Given the description of an element on the screen output the (x, y) to click on. 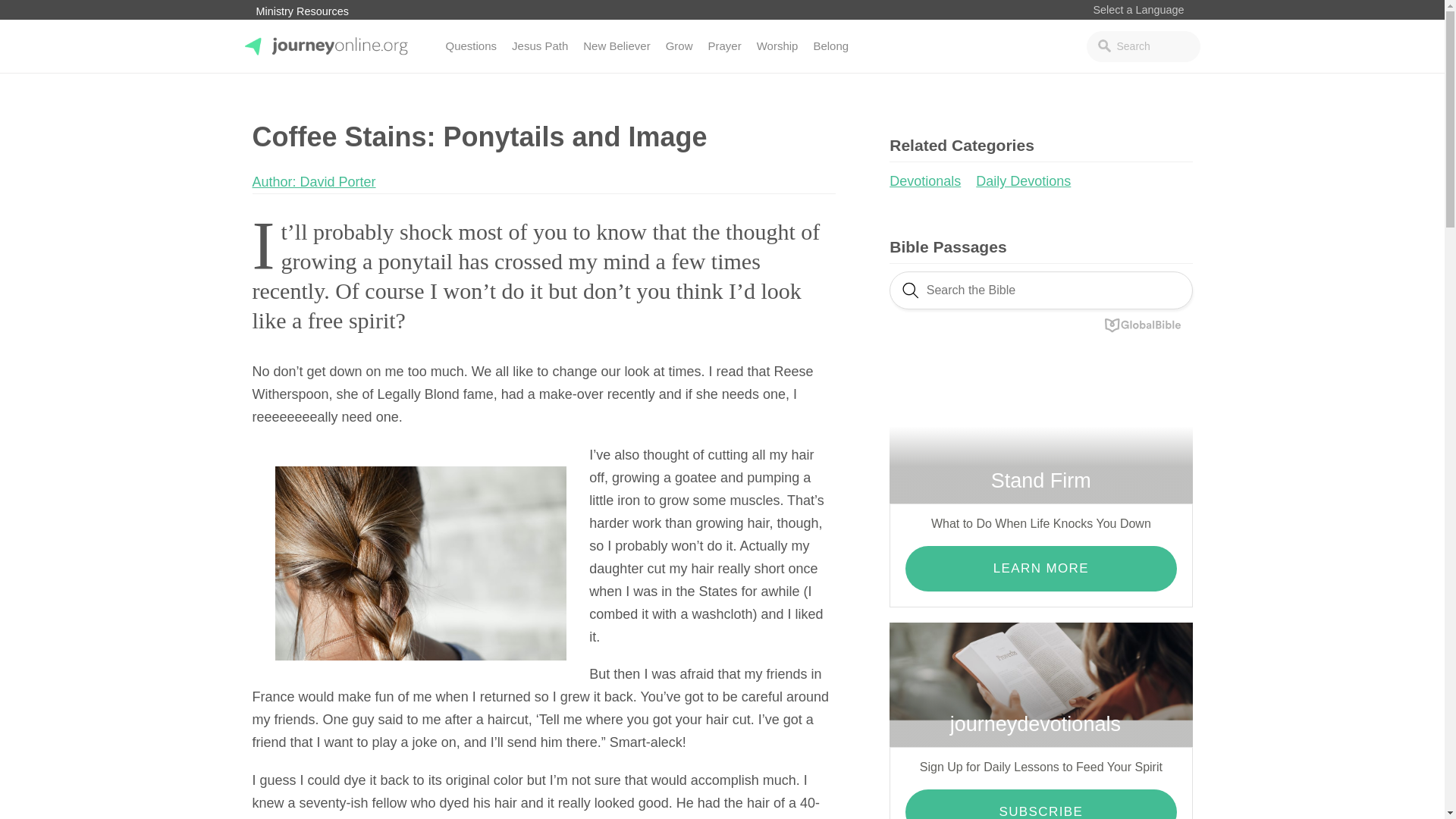
Stand Firm (1040, 441)
Belong (830, 46)
journeydevotionals (1040, 684)
Daily Devotions (1028, 181)
Devotionals (930, 181)
Ministry Resources (301, 11)
Questions (471, 46)
Jesus Path (539, 46)
New Believer (616, 46)
Worship (777, 46)
